Given the description of an element on the screen output the (x, y) to click on. 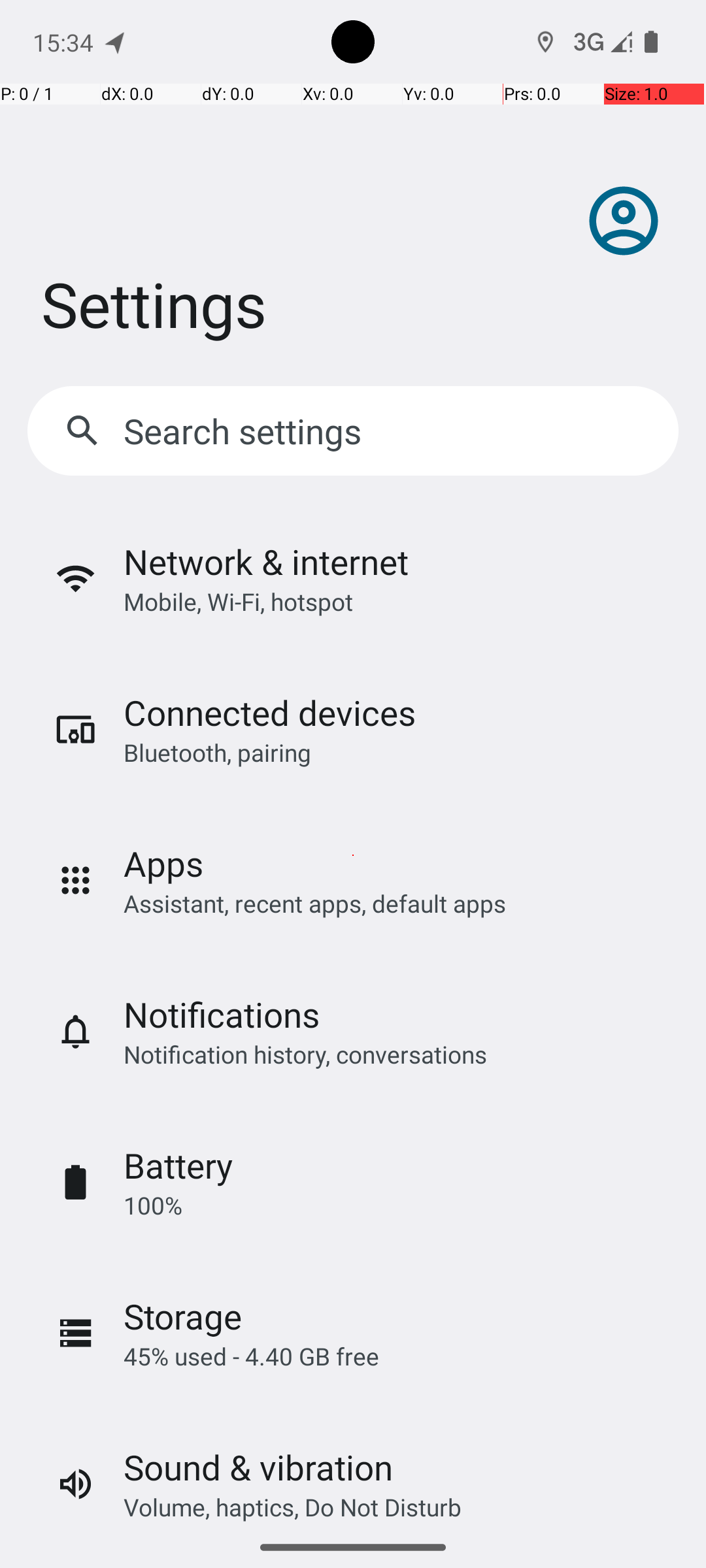
45% used - 4.40 GB free Element type: android.widget.TextView (251, 1355)
